Given the description of an element on the screen output the (x, y) to click on. 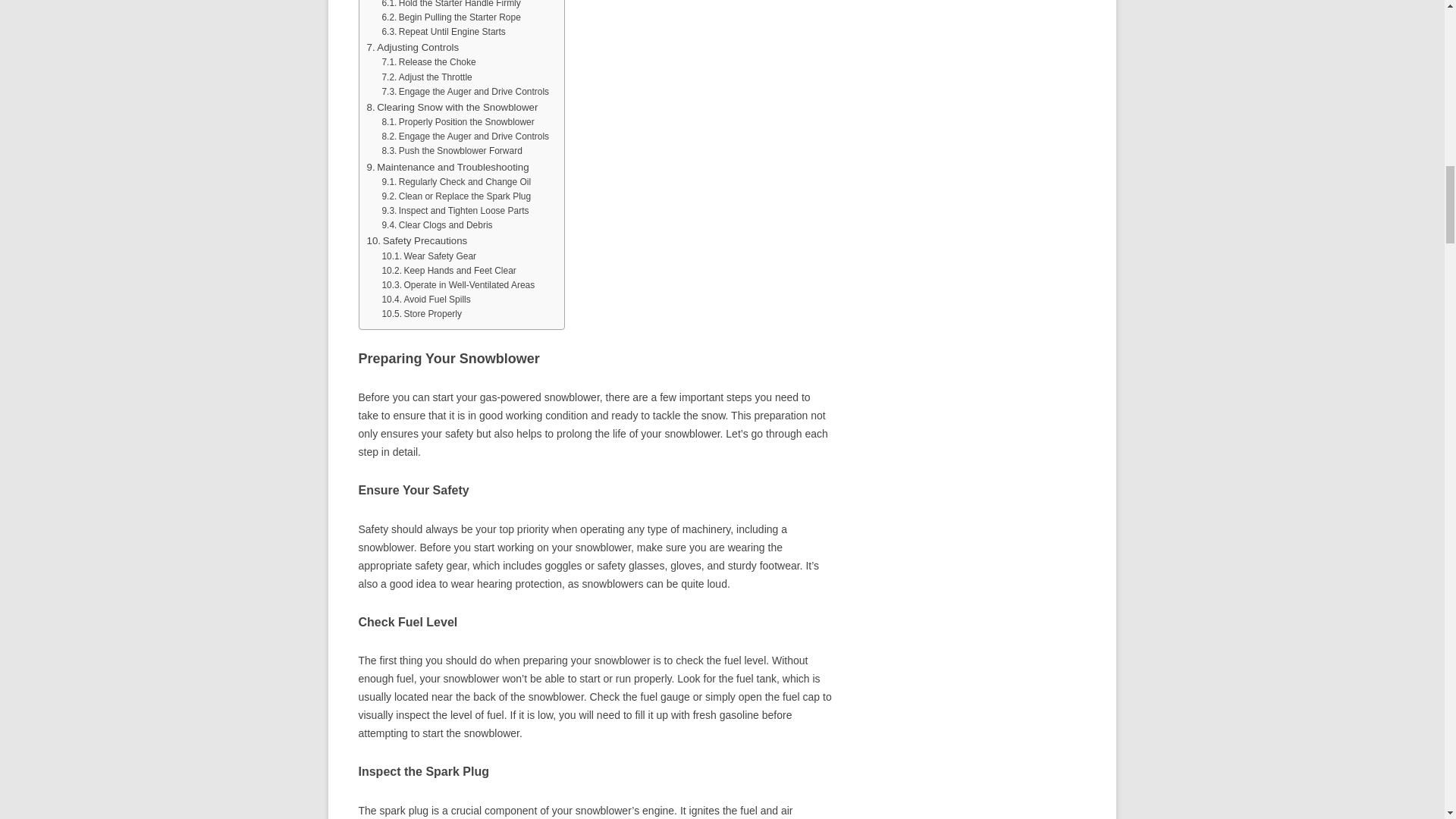
Release the Choke (428, 62)
Adjust the Throttle (426, 77)
Repeat Until Engine Starts (443, 32)
Begin Pulling the Starter Rope (450, 17)
Adjusting Controls (413, 47)
Hold the Starter Handle Firmly (450, 5)
